Given the description of an element on the screen output the (x, y) to click on. 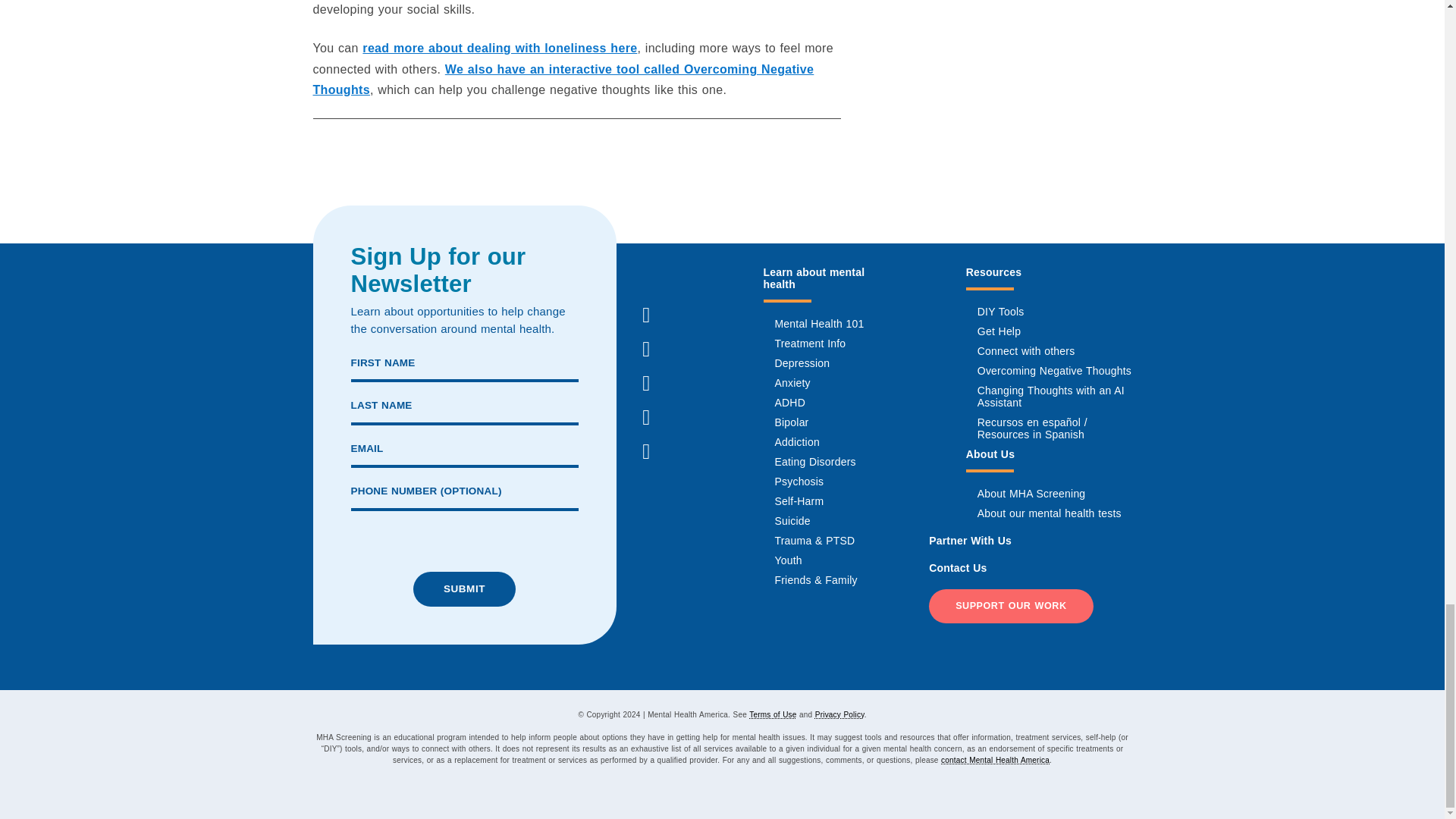
Link to Youtube (645, 451)
Link to Pinterest (645, 417)
Submit (464, 588)
Link to Facebook (645, 315)
Link to Inspire (645, 281)
Link to Twitter (645, 383)
Link to Instagram (645, 349)
